Given the description of an element on the screen output the (x, y) to click on. 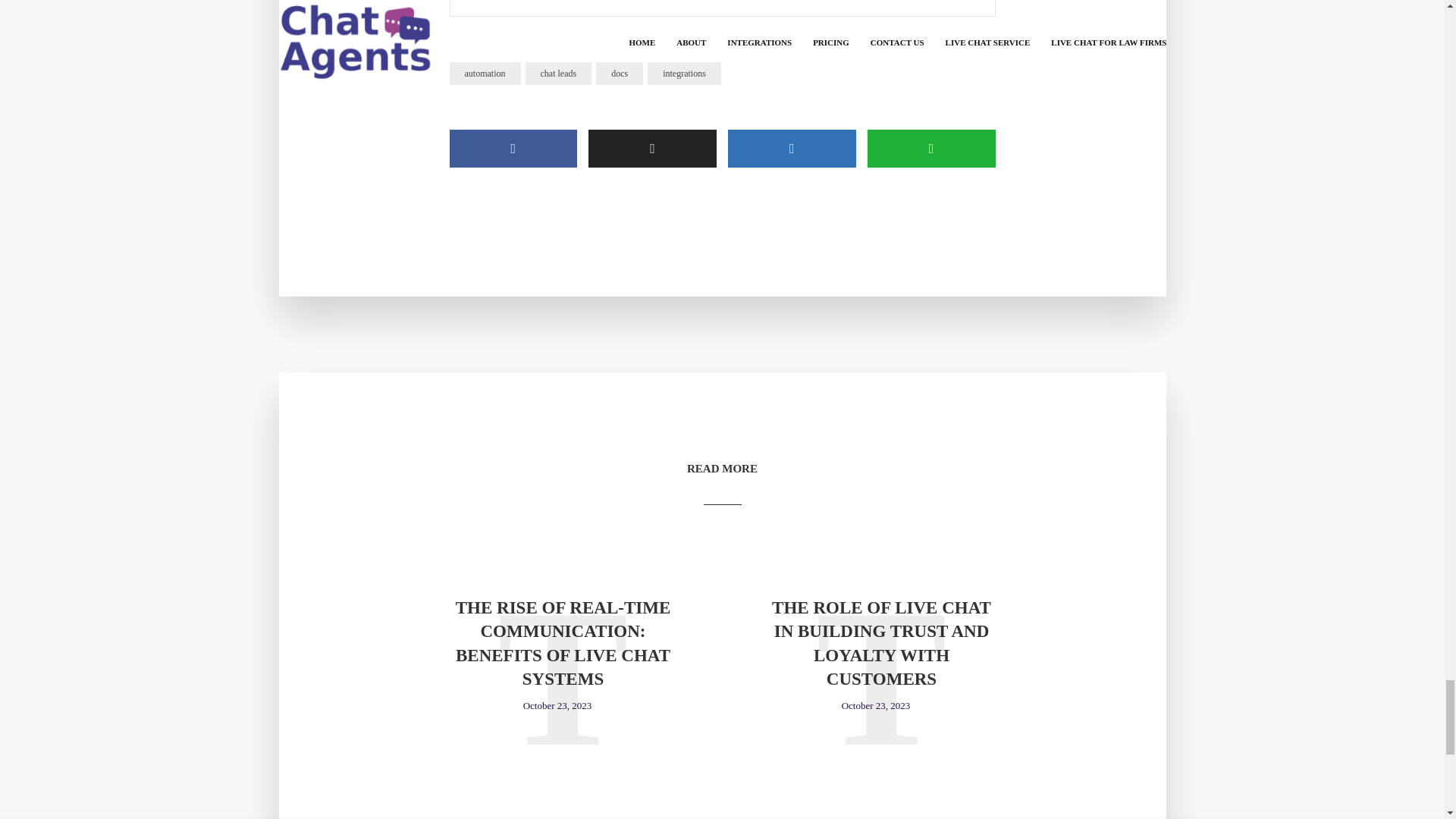
automation (483, 73)
integrations (683, 73)
docs (619, 73)
chat leads (557, 73)
